Given the description of an element on the screen output the (x, y) to click on. 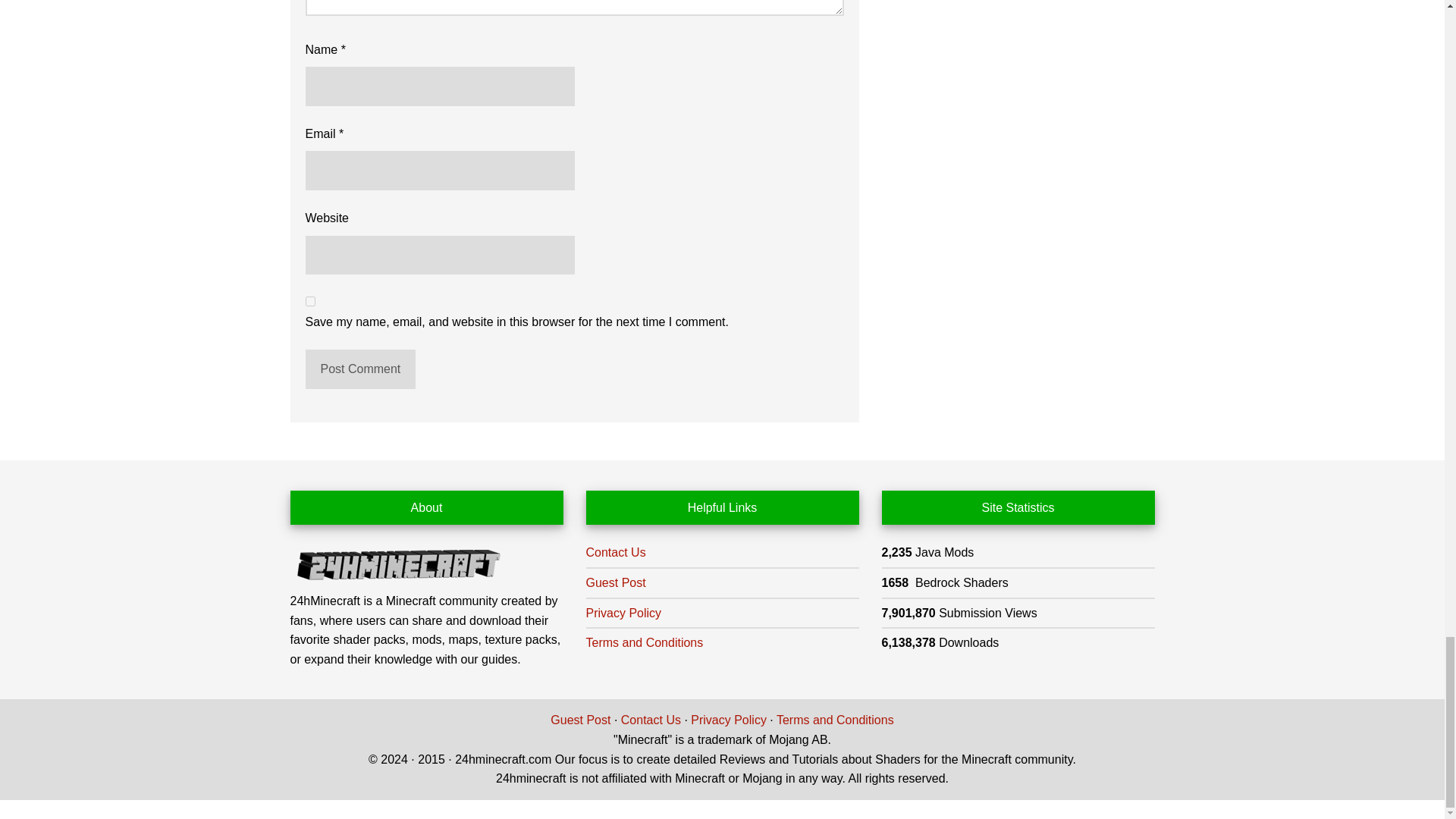
yes (309, 301)
Post Comment (359, 369)
